Given the description of an element on the screen output the (x, y) to click on. 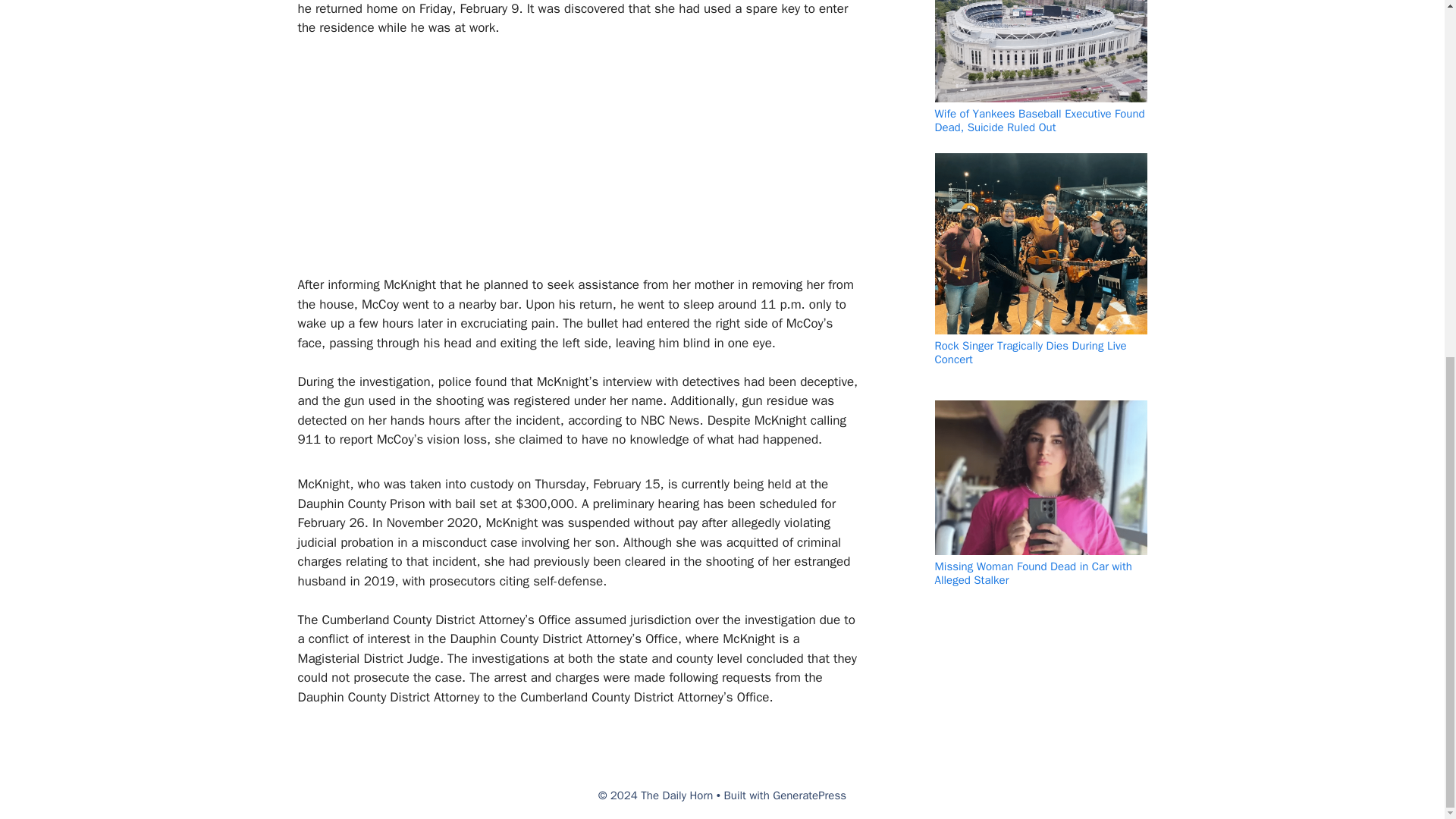
Rock Singer Tragically Dies During Live Concert (1029, 352)
GeneratePress (809, 795)
Missing Woman Found Dead in Car with Alleged Stalker (1032, 573)
Advertisement (570, 162)
